Given the description of an element on the screen output the (x, y) to click on. 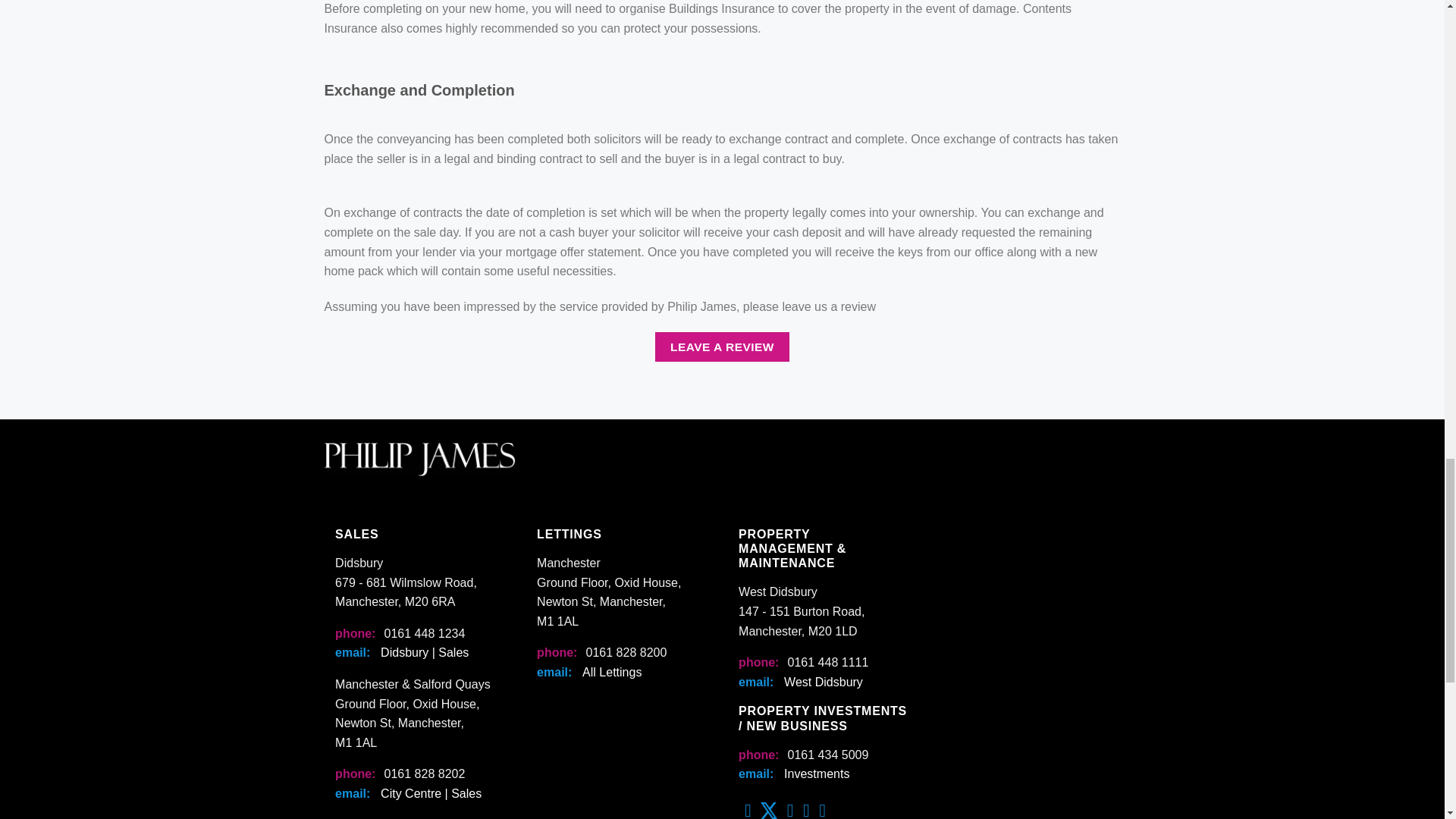
All Lettings (612, 671)
LEAVE A REVIEW (722, 346)
West Didsbury (823, 681)
Investments (816, 773)
